Given the description of an element on the screen output the (x, y) to click on. 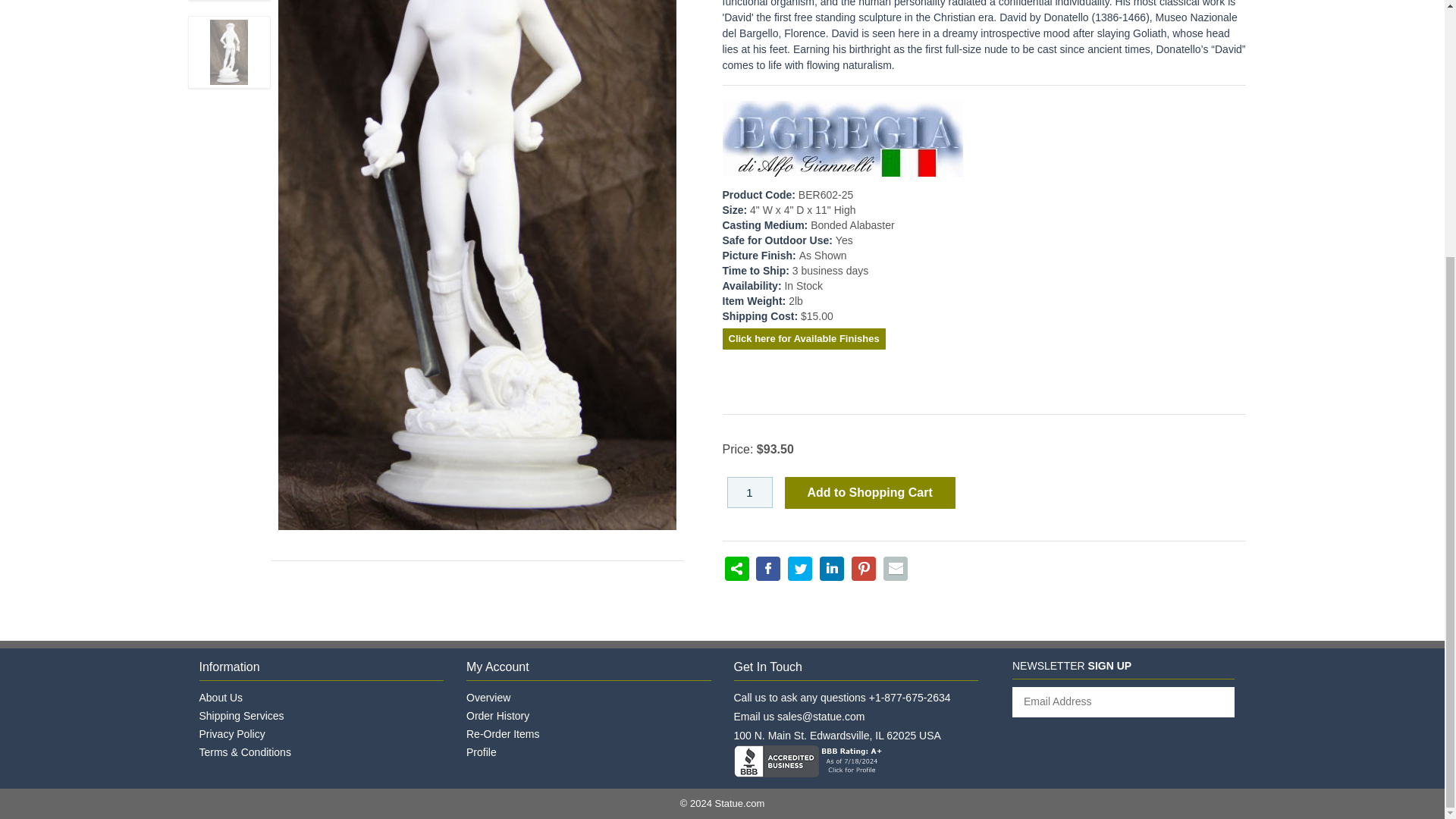
About Us (220, 697)
Add to Shopping Cart (869, 492)
Click here for Available Finishes (803, 339)
Shipping Services (240, 715)
1 (748, 491)
